Given the description of an element on the screen output the (x, y) to click on. 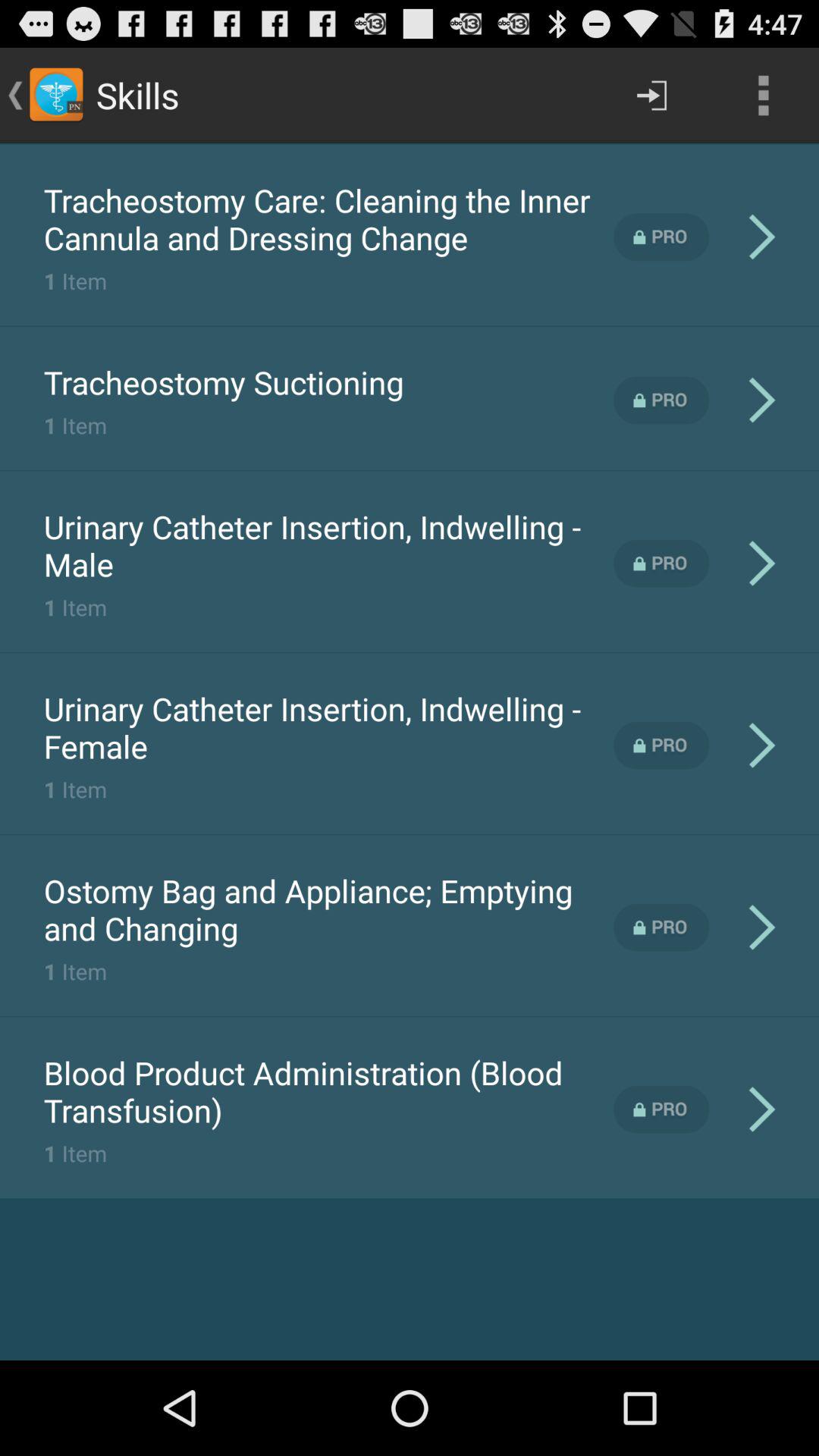
choose app below the 1 item app (328, 1091)
